Given the description of an element on the screen output the (x, y) to click on. 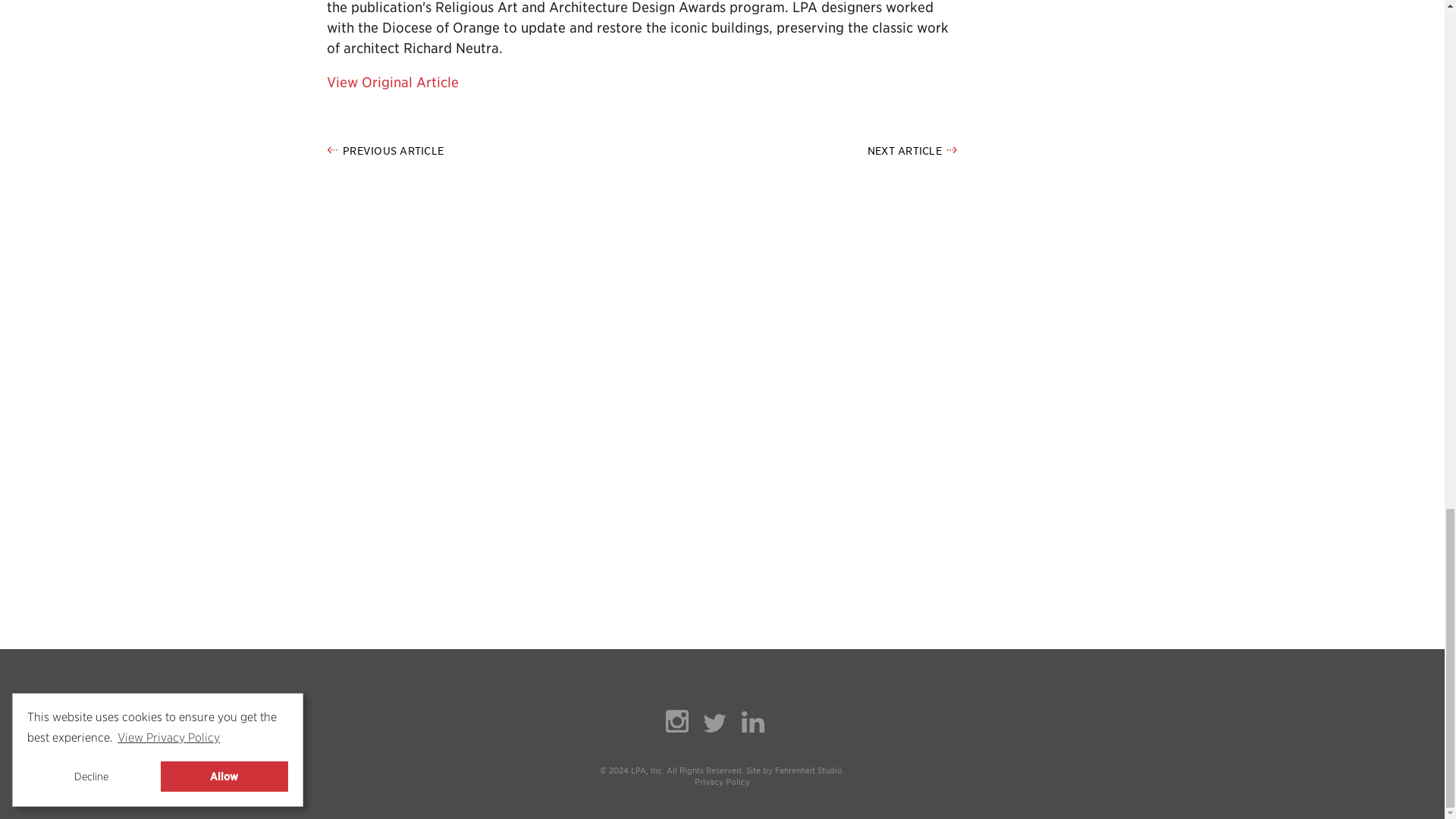
View Original Article (392, 82)
NEXT ARTICLE (911, 151)
PREVIOUS ARTICLE (385, 151)
